Given the description of an element on the screen output the (x, y) to click on. 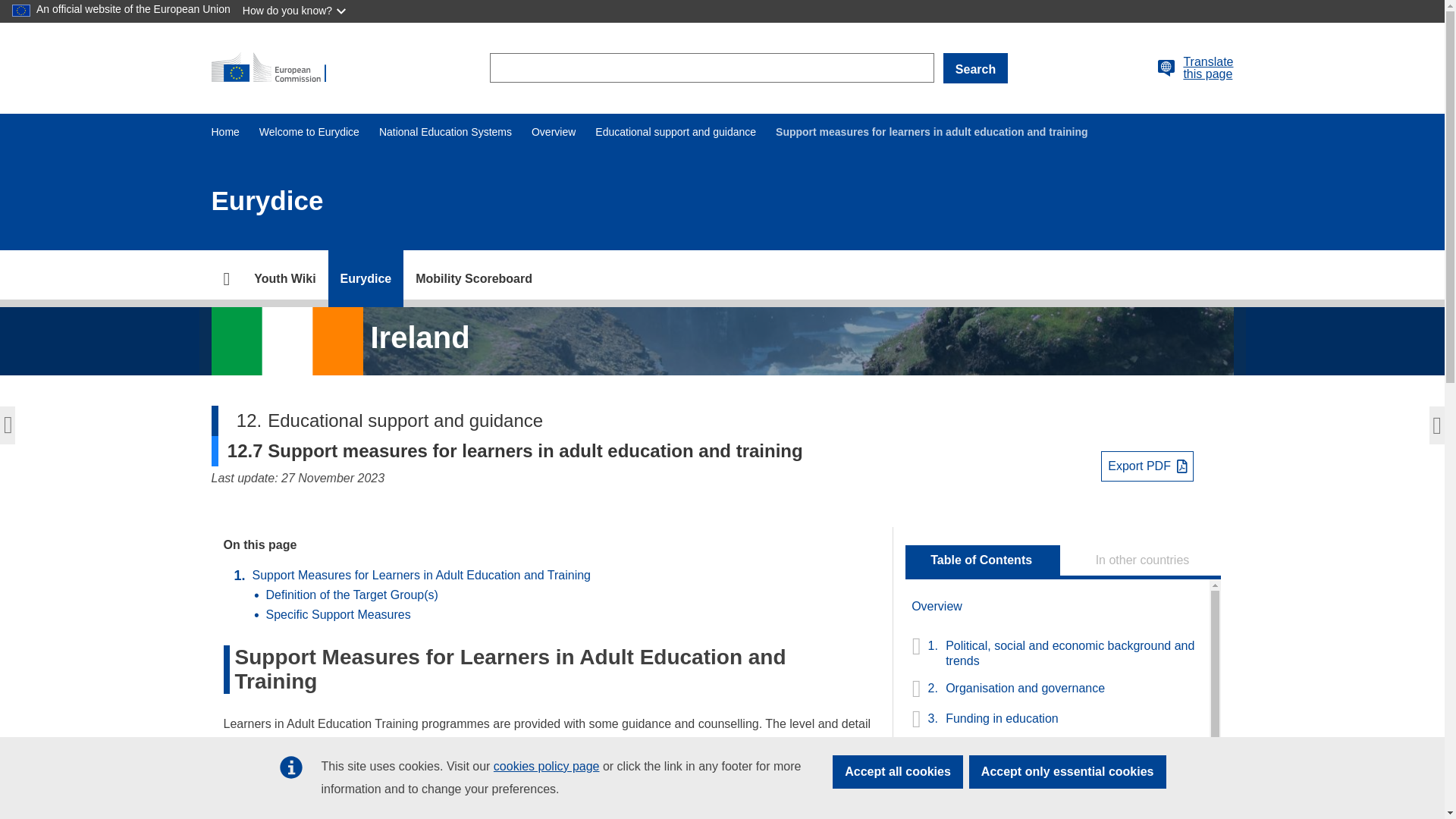
Educational support and guidance (675, 132)
Eurydice (366, 278)
Skip to main content (5, 6)
Mobility Scoreboard (473, 278)
Accept all cookies (897, 771)
National Policies Platform (284, 278)
Search (975, 68)
European Commission (275, 67)
cookies policy page (546, 766)
Youth Wiki (284, 278)
Welcome to Eurydice (309, 132)
Home (224, 132)
How do you know? (295, 10)
Translate this page (1165, 67)
Overview (553, 132)
